Given the description of an element on the screen output the (x, y) to click on. 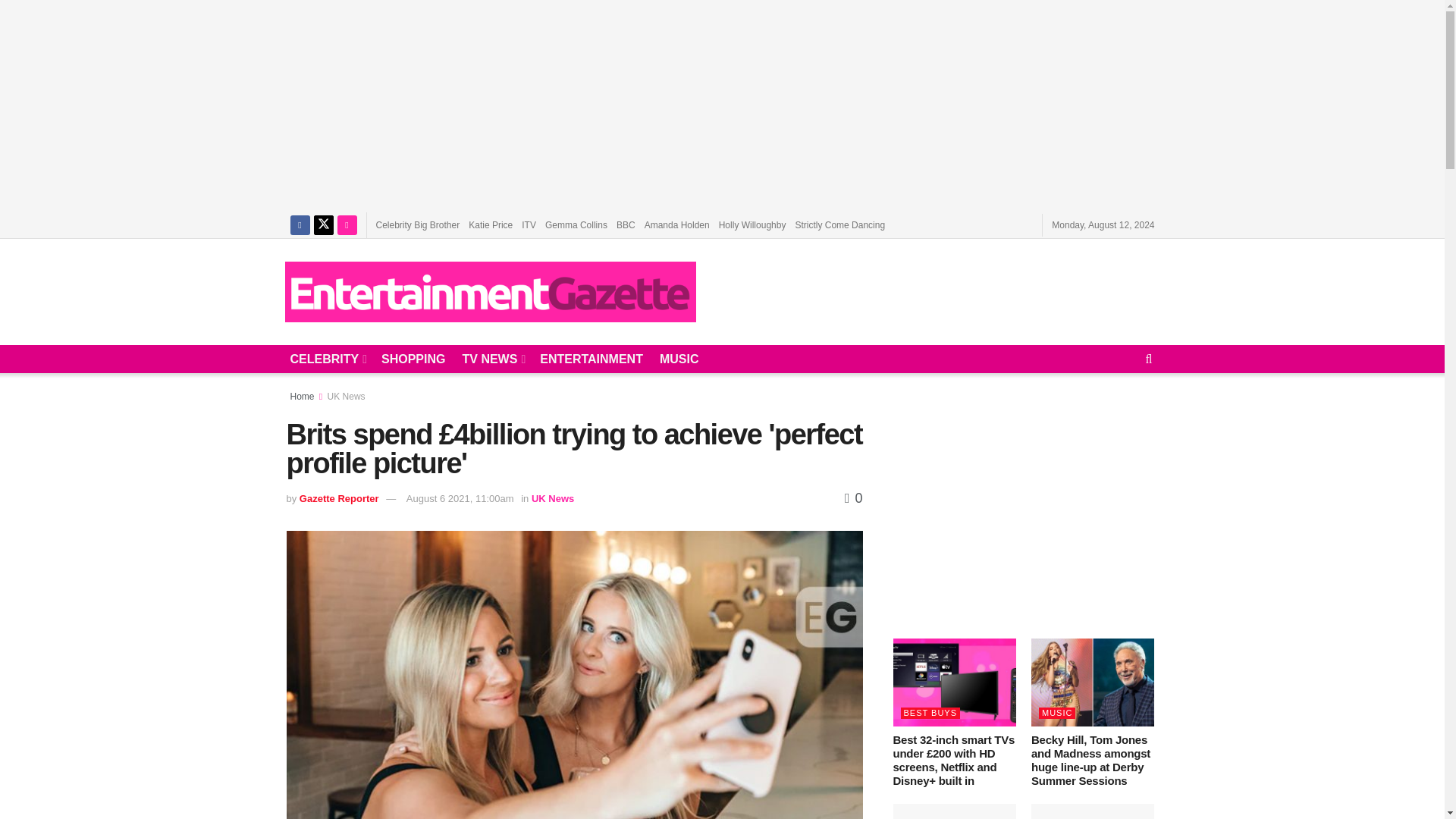
TV NEWS (491, 358)
Celebrity Big Brother (417, 225)
Katie Price (490, 225)
Holly Willoughby (752, 225)
SHOPPING (413, 358)
Strictly Come Dancing (839, 225)
Gemma Collins (575, 225)
ENTERTAINMENT (591, 358)
Amanda Holden (677, 225)
